Given the description of an element on the screen output the (x, y) to click on. 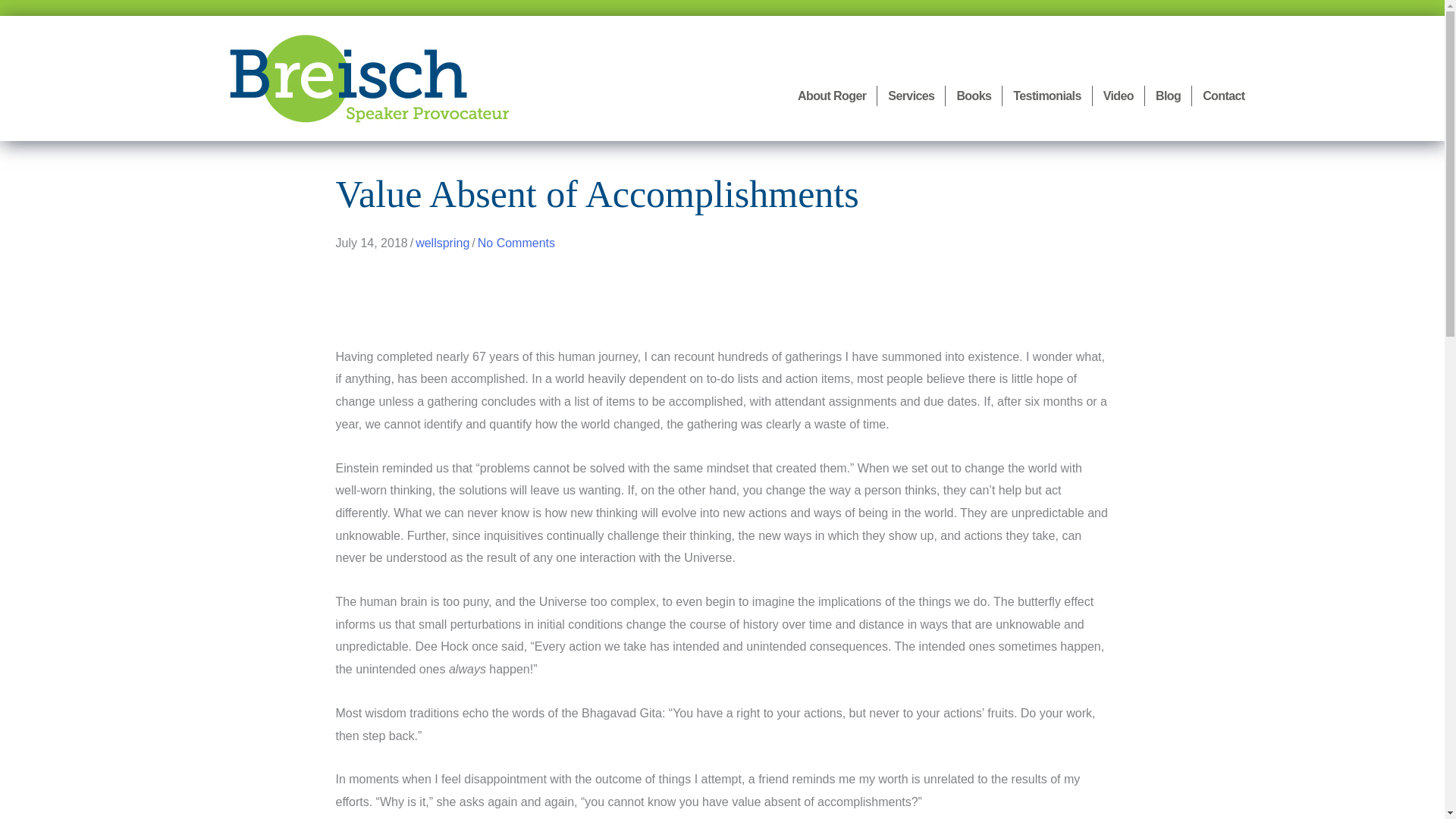
wellspring (441, 242)
About Roger (831, 95)
No Comments (515, 242)
Video (1118, 95)
Blog (1167, 95)
Testimonials (1046, 95)
Contact (1223, 95)
Books (972, 95)
Services (910, 95)
